Given the description of an element on the screen output the (x, y) to click on. 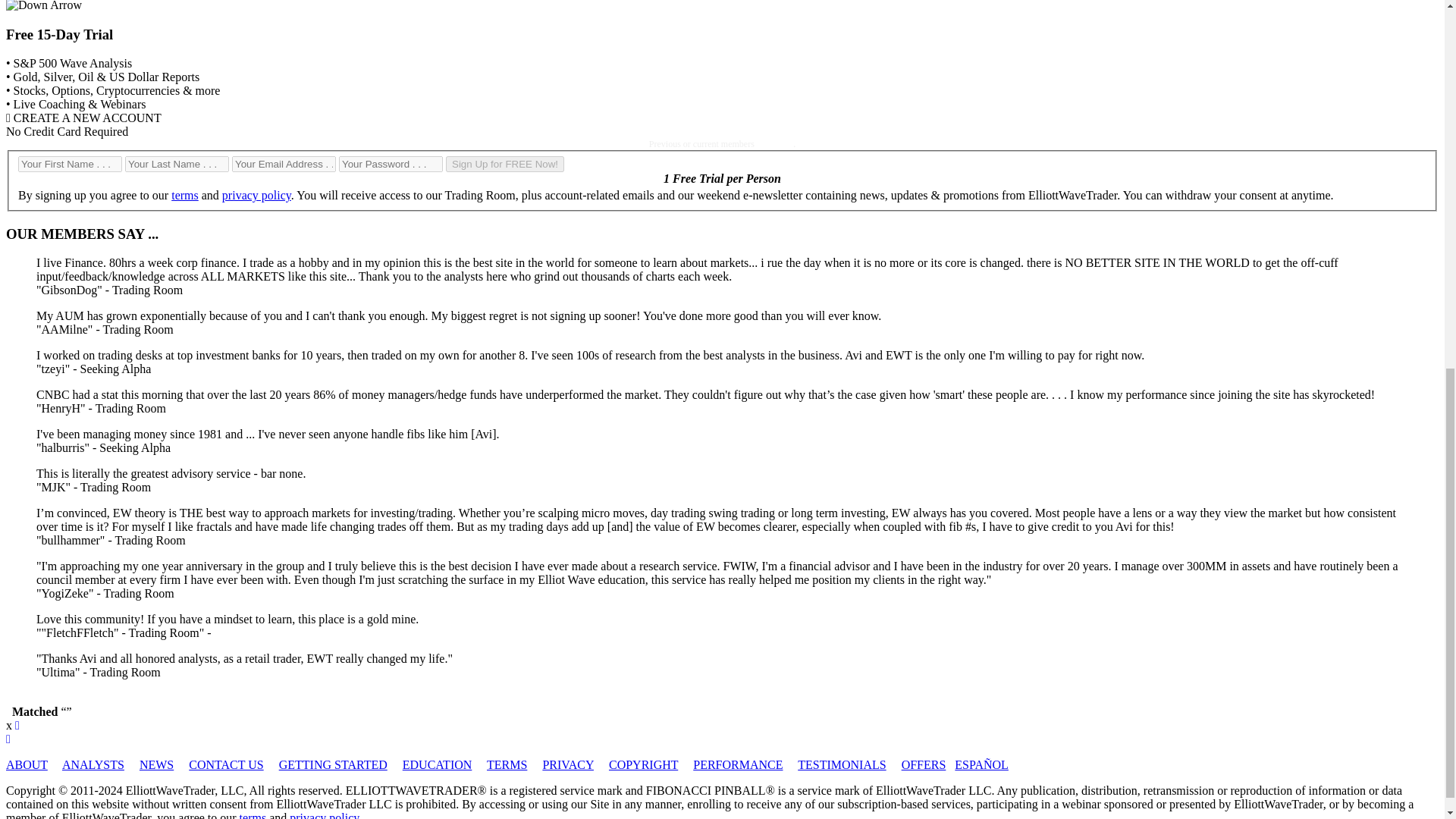
Sign Up for FREE Now! (504, 163)
NEWS (156, 764)
Sign Up for FREE Now! (504, 163)
PERFORMANCE (738, 764)
EDUCATION (437, 764)
ABOUT (26, 764)
TERMS (506, 764)
GETTING STARTED (333, 764)
Your Last Name (176, 163)
Your Email Address (283, 163)
privacy policy (256, 195)
TESTIMONIALS (841, 764)
OFFERS (923, 764)
PRIVACY (567, 764)
COPYRIGHT (643, 764)
